Given the description of an element on the screen output the (x, y) to click on. 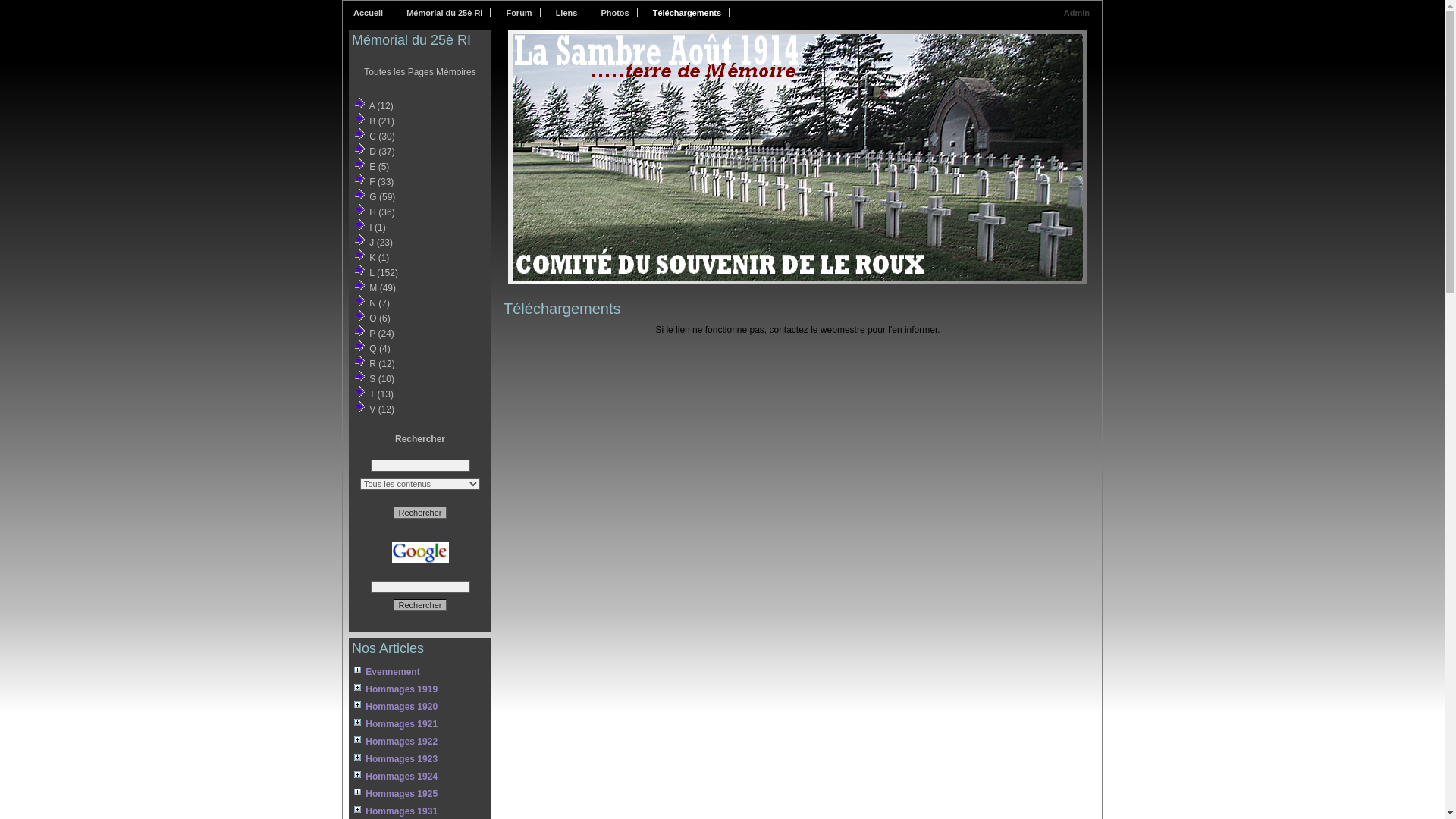
Hommages 1921 Element type: text (419, 723)
D (37) Element type: text (381, 151)
S (10) Element type: text (381, 378)
H (36) Element type: text (381, 212)
Hommages 1922 Element type: text (419, 741)
Rechercher Element type: hover (420, 512)
G (59) Element type: text (382, 196)
Evennement Element type: text (419, 671)
L (152) Element type: text (383, 272)
B (21) Element type: text (381, 121)
T (13) Element type: text (381, 394)
J (23) Element type: text (380, 242)
C (30) Element type: text (381, 136)
I (1) Element type: text (377, 227)
Rechercher Element type: text (420, 512)
N (7) Element type: text (379, 303)
Hommages 1919 Element type: text (419, 688)
V (12) Element type: text (381, 409)
Q (4) Element type: text (379, 348)
Photos Element type: text (618, 12)
Liens Element type: text (570, 12)
Admin Element type: text (1077, 12)
F (33) Element type: text (381, 181)
E (5) Element type: text (379, 166)
Hommages 1923 Element type: text (419, 758)
R (12) Element type: text (381, 363)
K (1) Element type: text (379, 257)
Hommages 1924 Element type: text (419, 776)
Forum Element type: text (522, 12)
Hommages 1920 Element type: text (419, 706)
P (24) Element type: text (381, 333)
M (49) Element type: text (382, 287)
Hommages 1925 Element type: text (419, 793)
Accueil Element type: text (372, 12)
A (12) Element type: text (381, 105)
Rechercher Element type: text (420, 605)
O (6) Element type: text (379, 318)
